Given the description of an element on the screen output the (x, y) to click on. 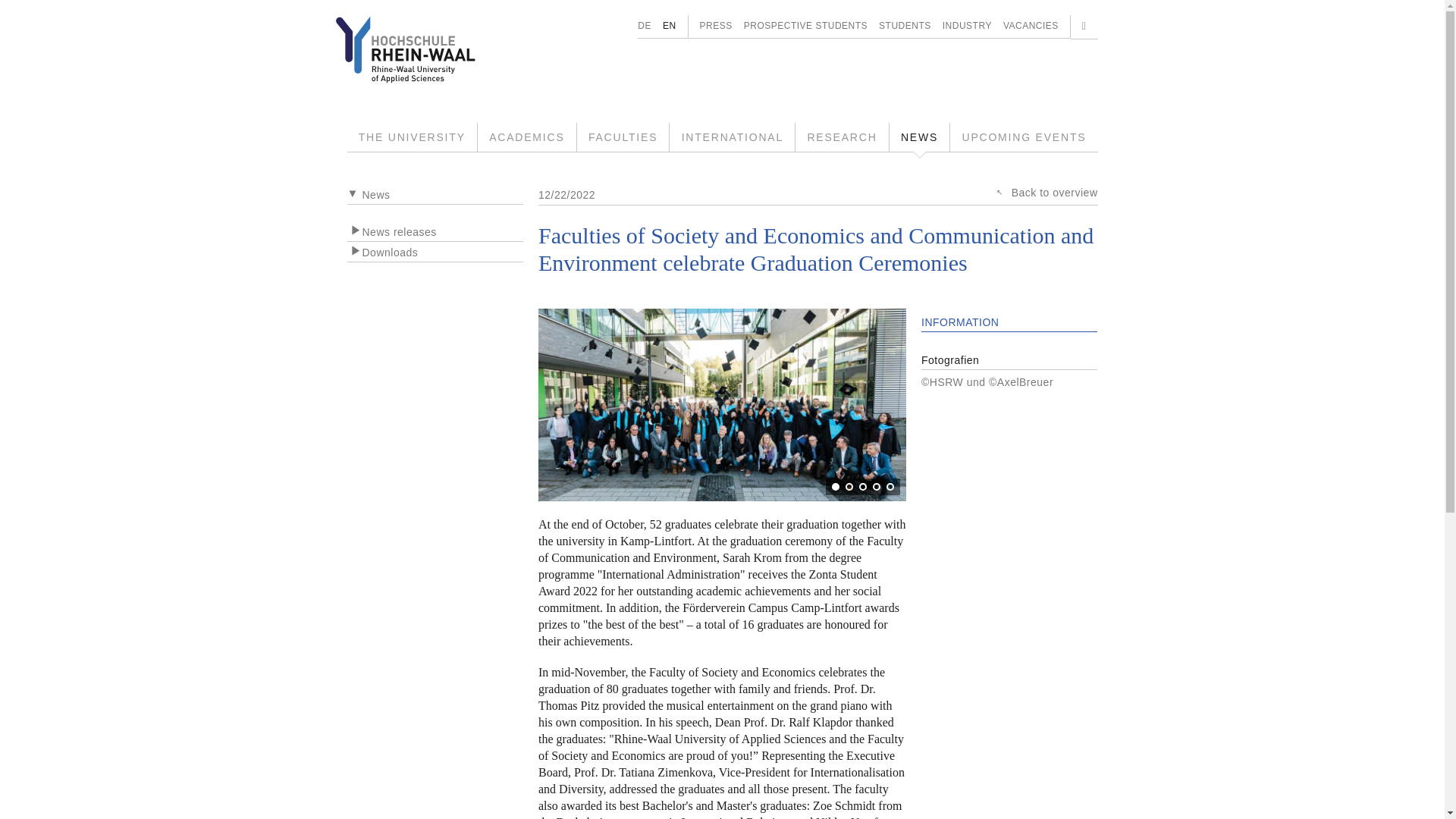
NEWS (919, 136)
THE UNIVERSITY (412, 136)
PROSPECTIVE STUDENTS (805, 26)
Startseite (417, 47)
VACANCIES (1030, 26)
RESEARCH (841, 136)
INTERNATIONAL (731, 136)
FACULTIES (622, 136)
UPCOMING EVENTS (1023, 136)
PRESS (716, 26)
ACADEMICS (526, 136)
INDUSTRY (966, 26)
STUDENTS (905, 26)
